Given the description of an element on the screen output the (x, y) to click on. 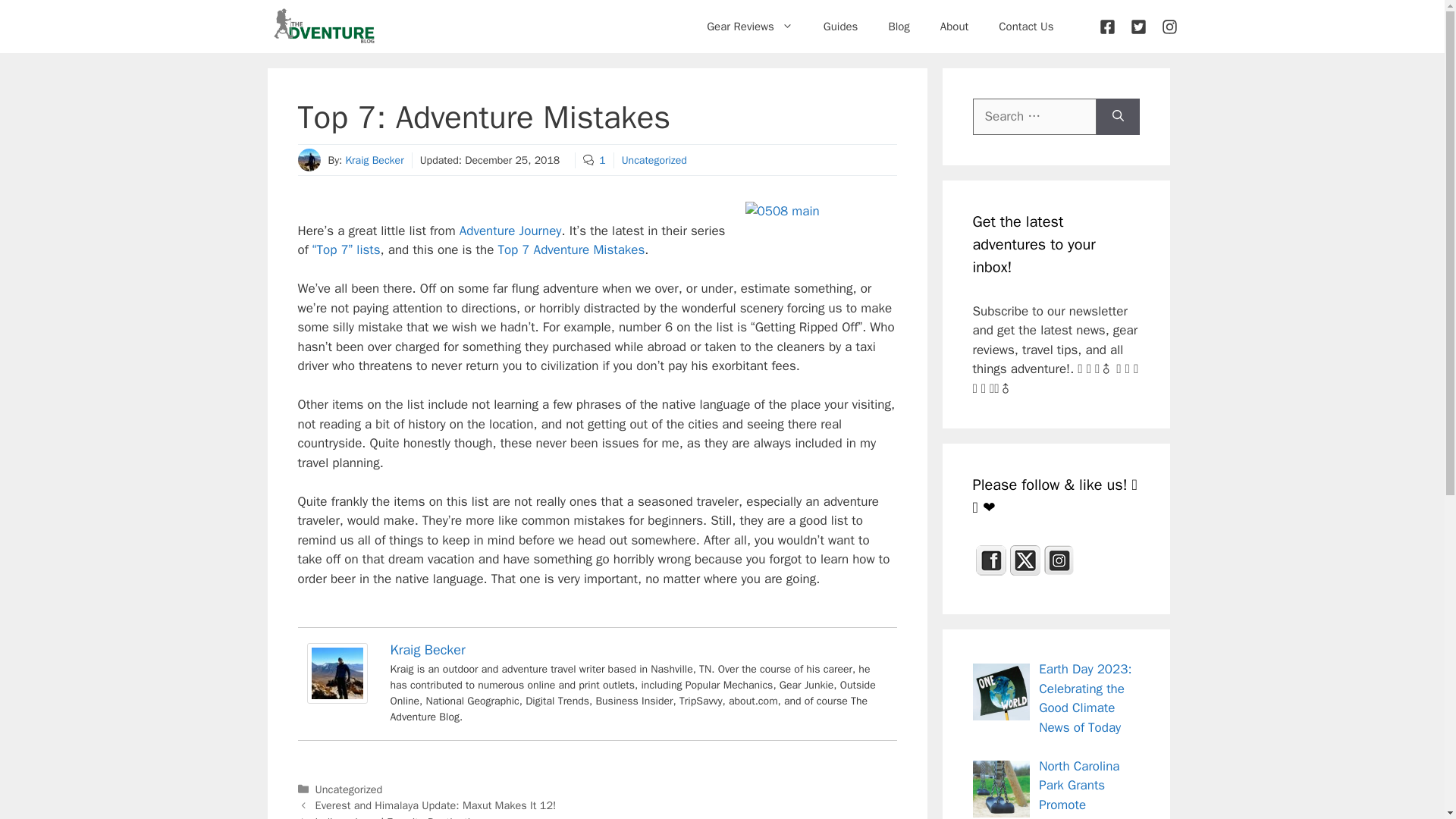
Everest and Himalaya Update: Maxut Makes It 12! (435, 805)
Twitter (1025, 560)
Adventure Journey (511, 230)
Gear Reviews (749, 26)
Uncategorized (654, 160)
Blog (898, 26)
About (954, 26)
The Adventure Blog (323, 26)
Kraig Becker (374, 160)
Instagram (1058, 560)
